Given the description of an element on the screen output the (x, y) to click on. 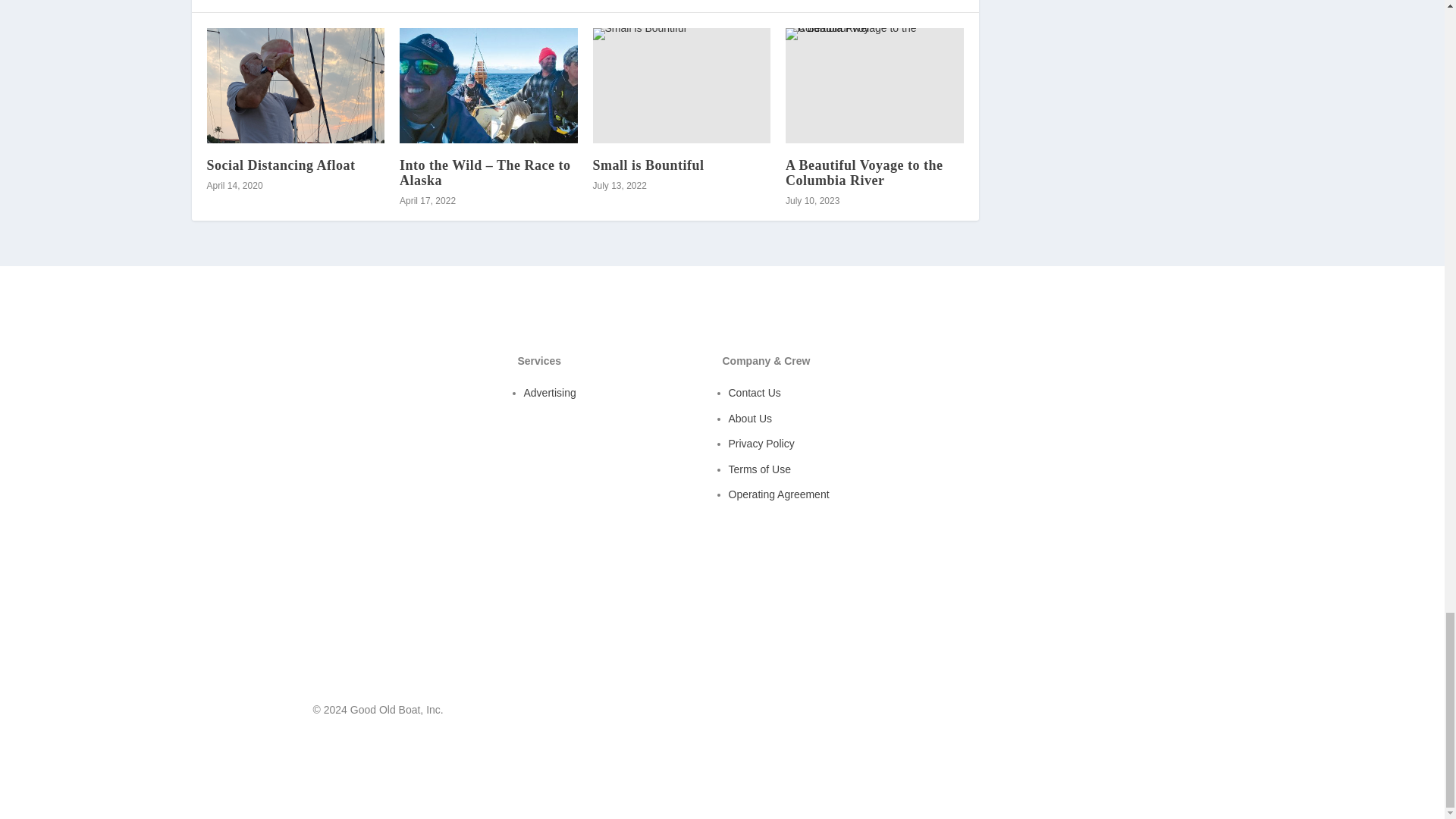
A Beautiful Voyage to the Columbia River (864, 173)
Follow on Facebook (1088, 713)
A Beautiful Voyage to the Columbia River (874, 85)
Follow on Youtube (1118, 713)
Small is Bountiful (648, 165)
Social Distancing Afloat (280, 165)
Small is Bountiful (681, 85)
Social Distancing Afloat (295, 85)
